Given the description of an element on the screen output the (x, y) to click on. 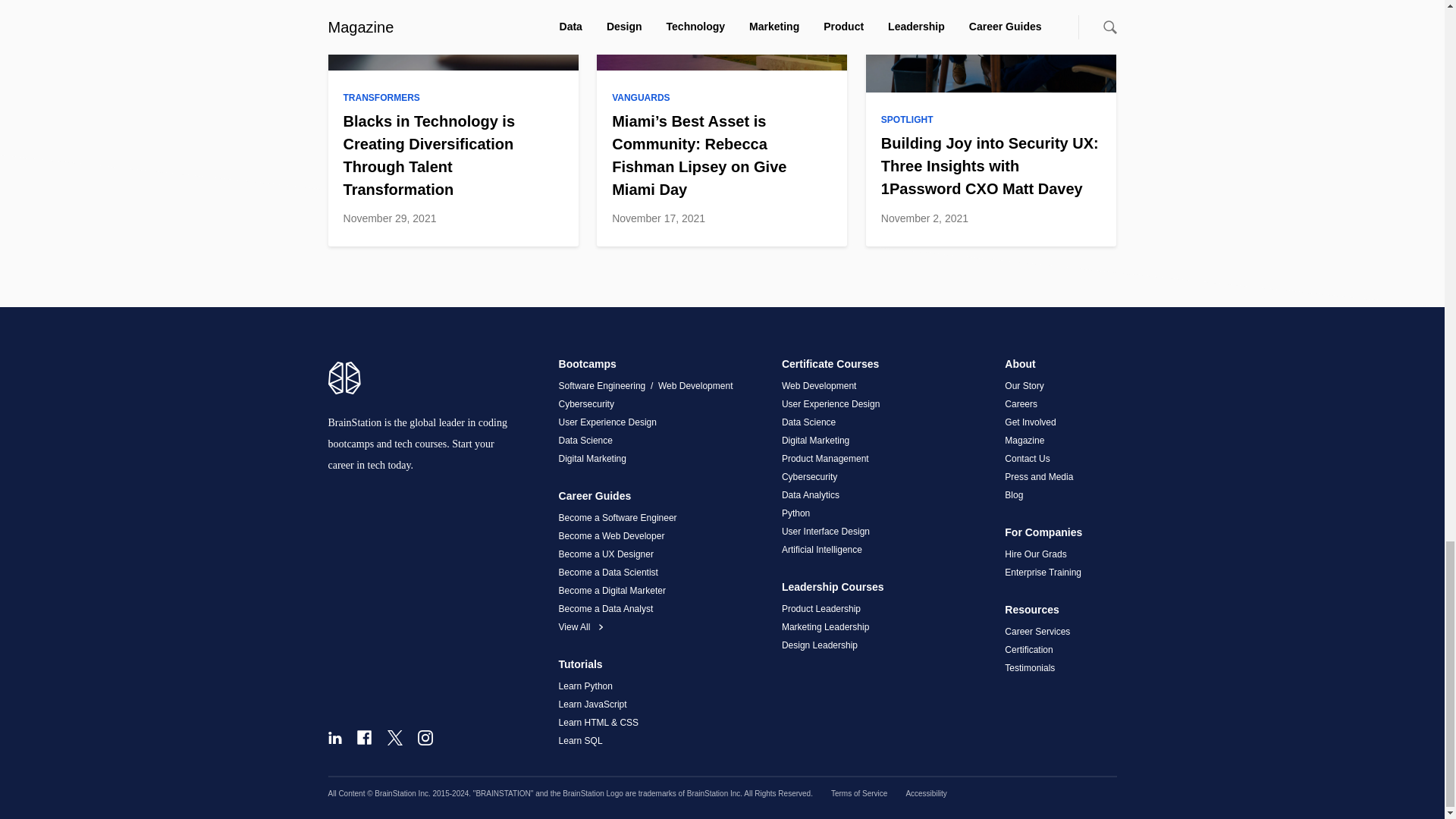
BrainStation Instagram (424, 737)
BrainStation Facebook (363, 737)
BrainStation LinkedIn (333, 737)
BrainStation X (394, 737)
